Given the description of an element on the screen output the (x, y) to click on. 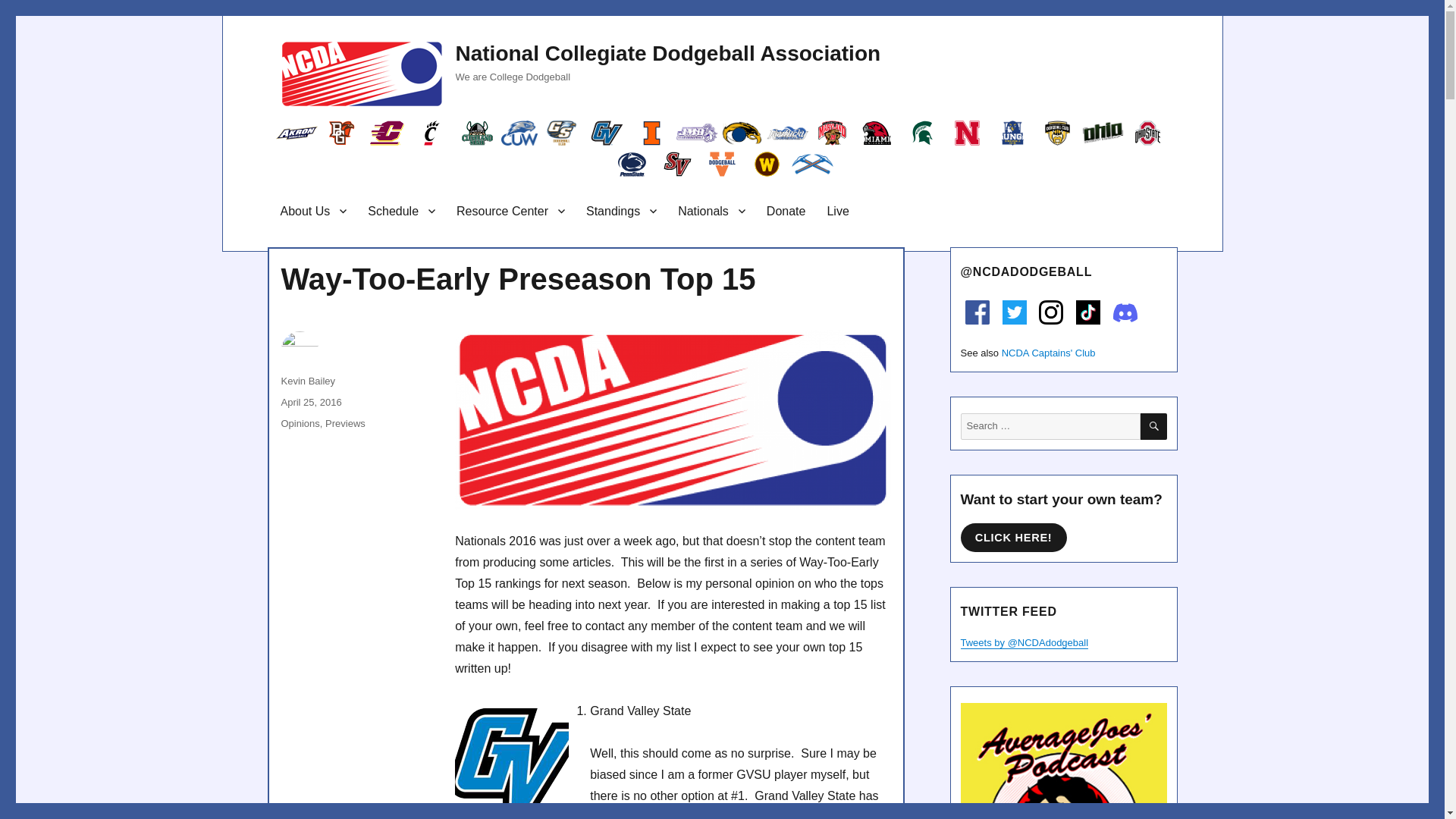
National Collegiate Dodgeball Association (667, 53)
Schedule (400, 210)
Average Joes' Podcast (1062, 760)
About Us (313, 210)
